Given the description of an element on the screen output the (x, y) to click on. 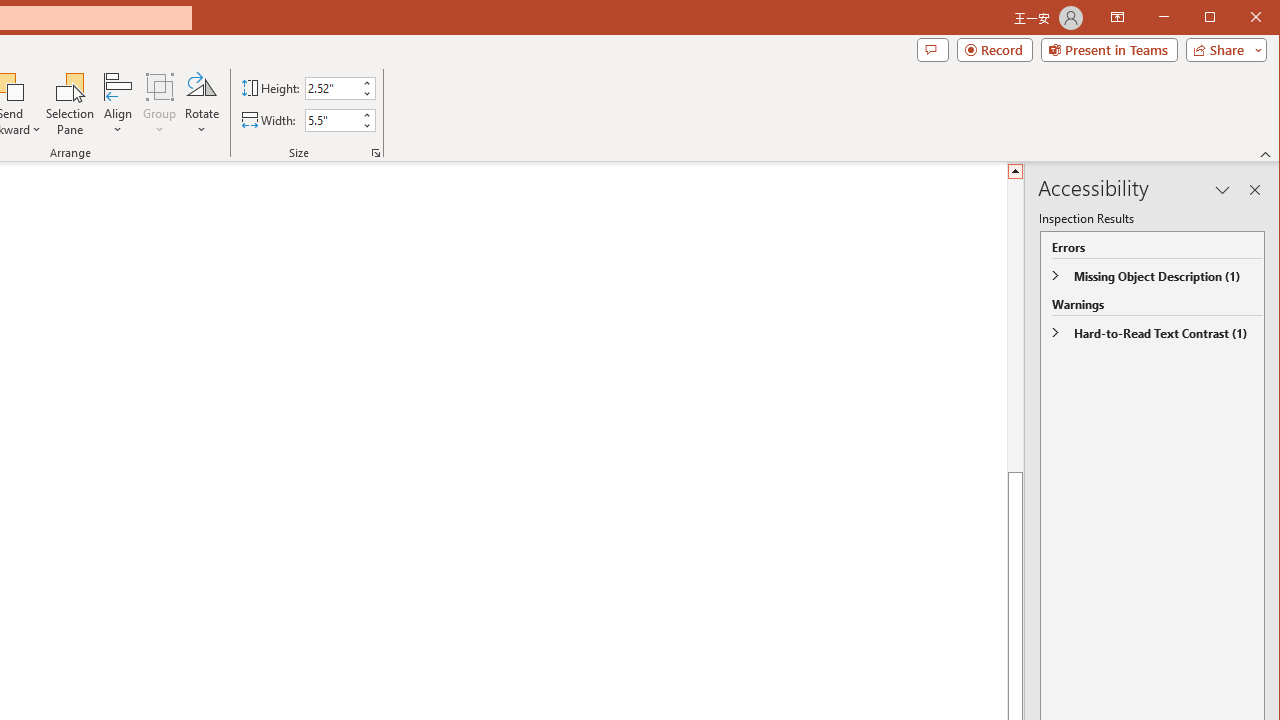
Maximize (1238, 18)
More (366, 115)
Size and Position... (376, 152)
Shape Width (331, 120)
Less (366, 125)
Selection Pane... (70, 104)
Shape Height (331, 88)
Align (118, 104)
Group (159, 104)
